Given the description of an element on the screen output the (x, y) to click on. 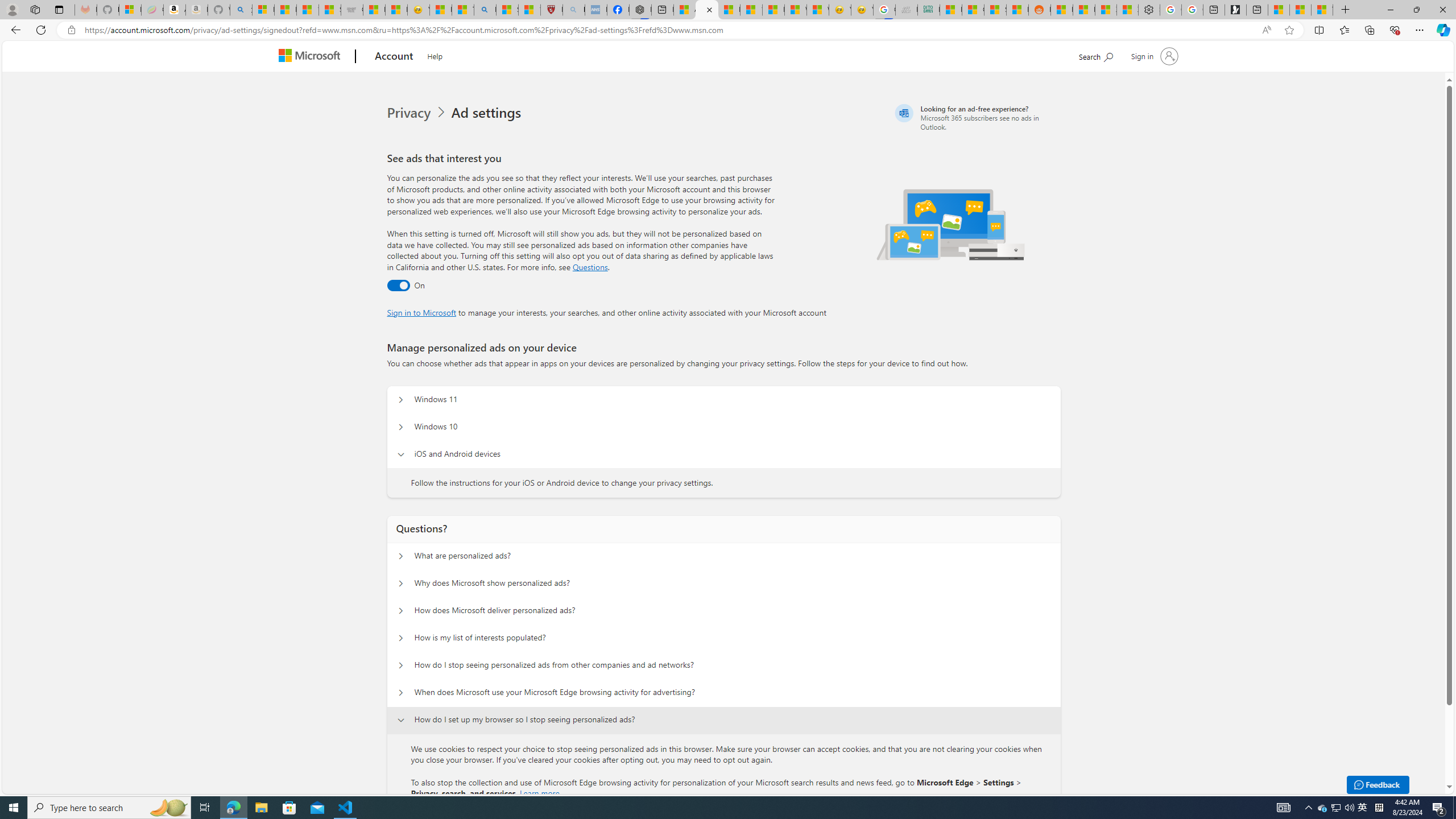
Bing (484, 9)
Illustration of multiple devices (951, 224)
Questions? How does Microsoft deliver personalized ads? (401, 610)
Help (434, 54)
